Given the description of an element on the screen output the (x, y) to click on. 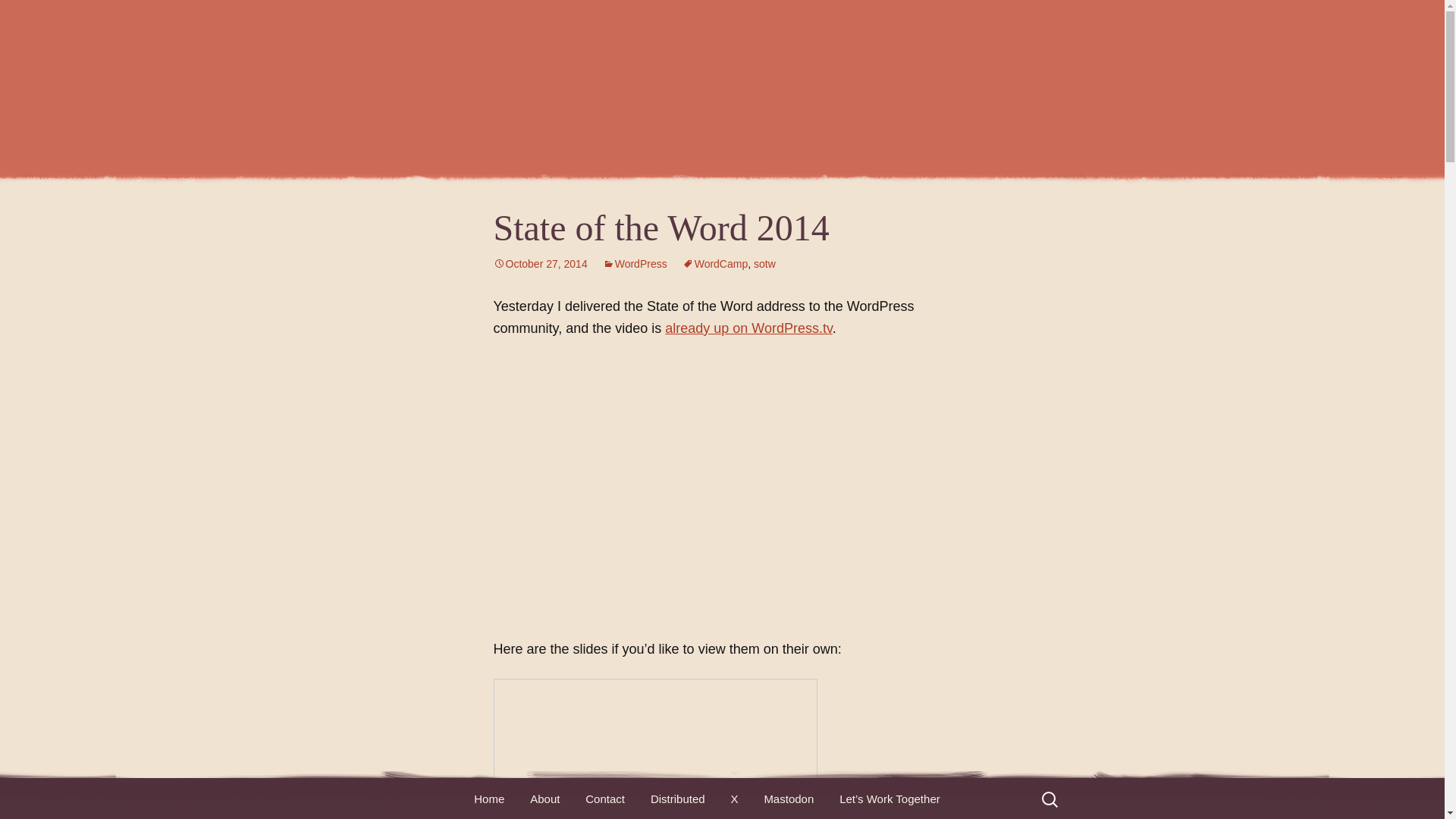
already up on WordPress.tv (748, 328)
WordCamp (715, 263)
Matt Mullenweg (721, 87)
VideoPress Video Player (721, 485)
Matt Mullenweg (721, 87)
October 27, 2014 (539, 263)
WordPress (634, 263)
sotw (765, 263)
State of the Word 2014 (654, 748)
